Given the description of an element on the screen output the (x, y) to click on. 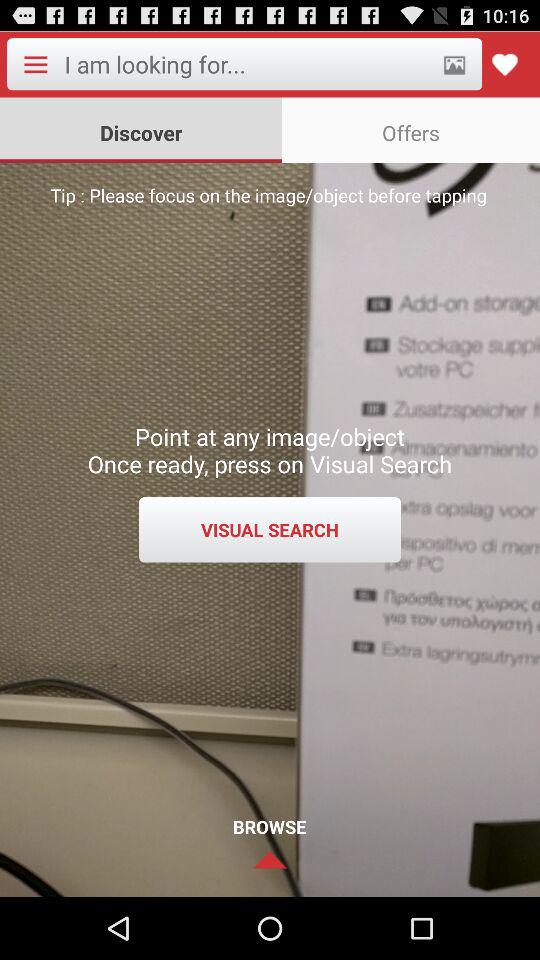
input search term (246, 64)
